Given the description of an element on the screen output the (x, y) to click on. 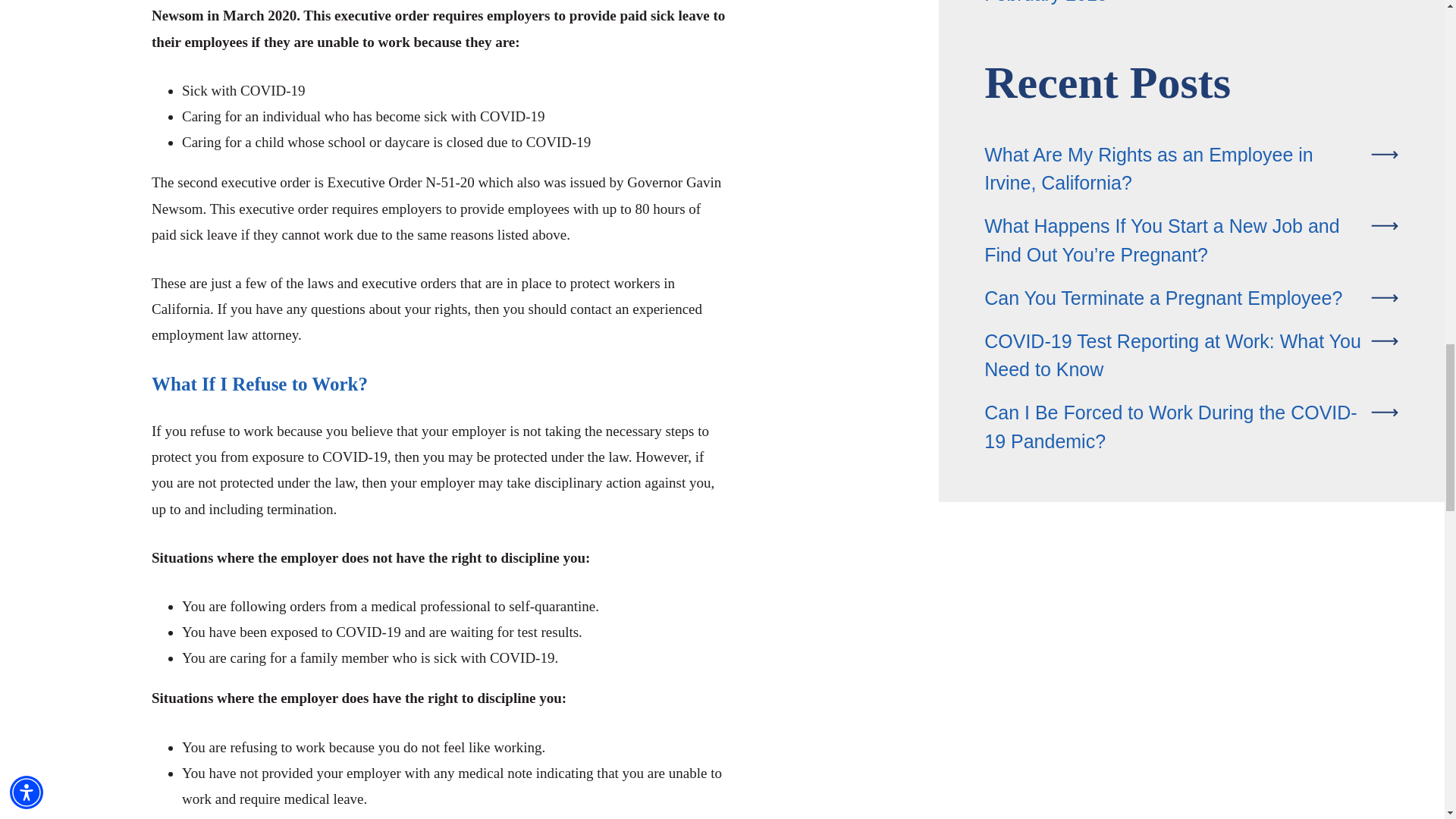
require medical leave (302, 798)
